Given the description of an element on the screen output the (x, y) to click on. 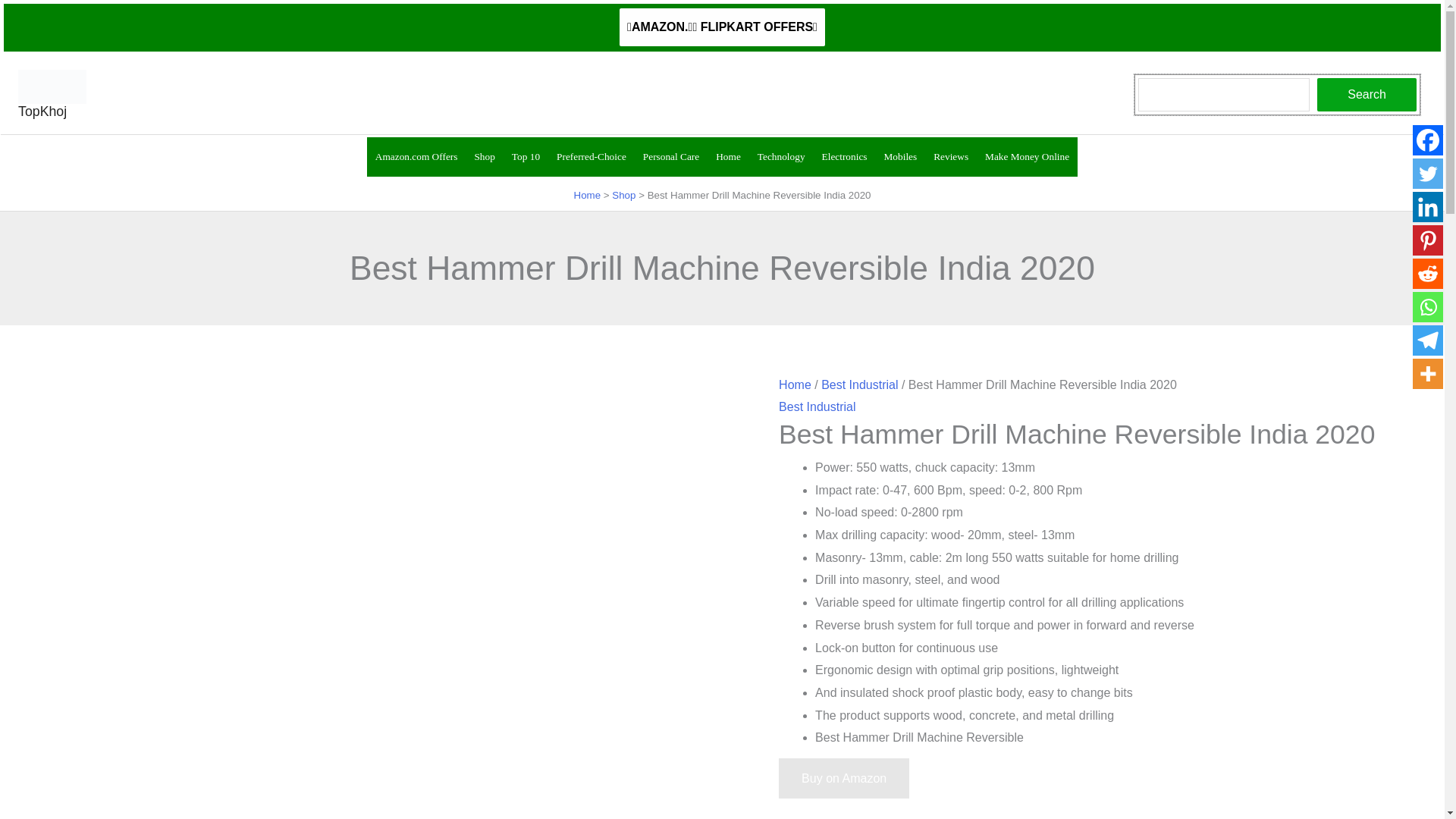
Personal Care (670, 156)
More (1427, 373)
Shop (622, 194)
Technology (781, 156)
Telegram (1427, 340)
Best Industrial (859, 384)
Search (1366, 94)
Preferred-Choice (591, 156)
Home (587, 194)
Whatsapp (1427, 306)
